Given the description of an element on the screen output the (x, y) to click on. 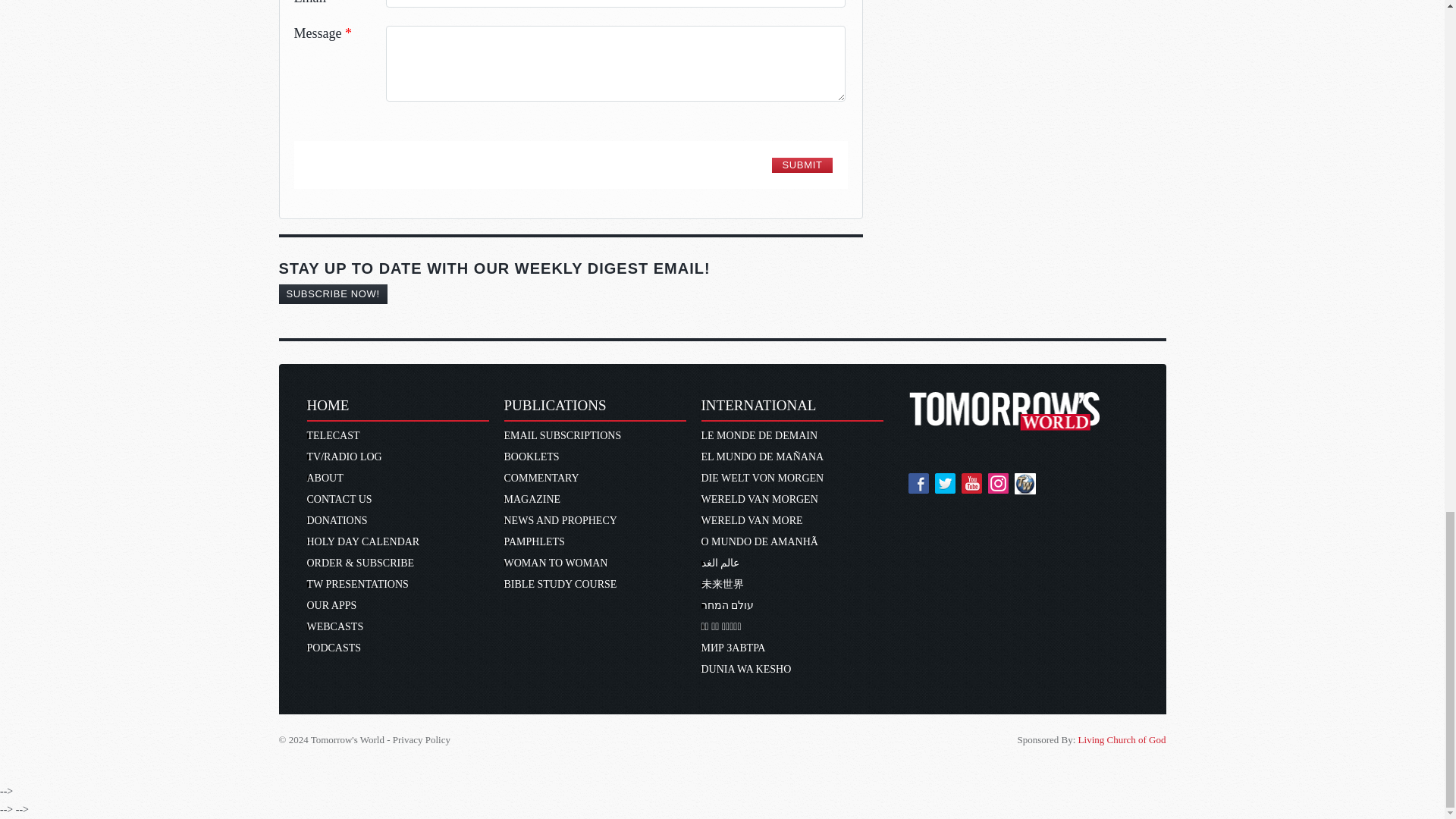
Submit (801, 165)
Submit (801, 165)
SUBSCRIBE NOW! (333, 293)
